Given the description of an element on the screen output the (x, y) to click on. 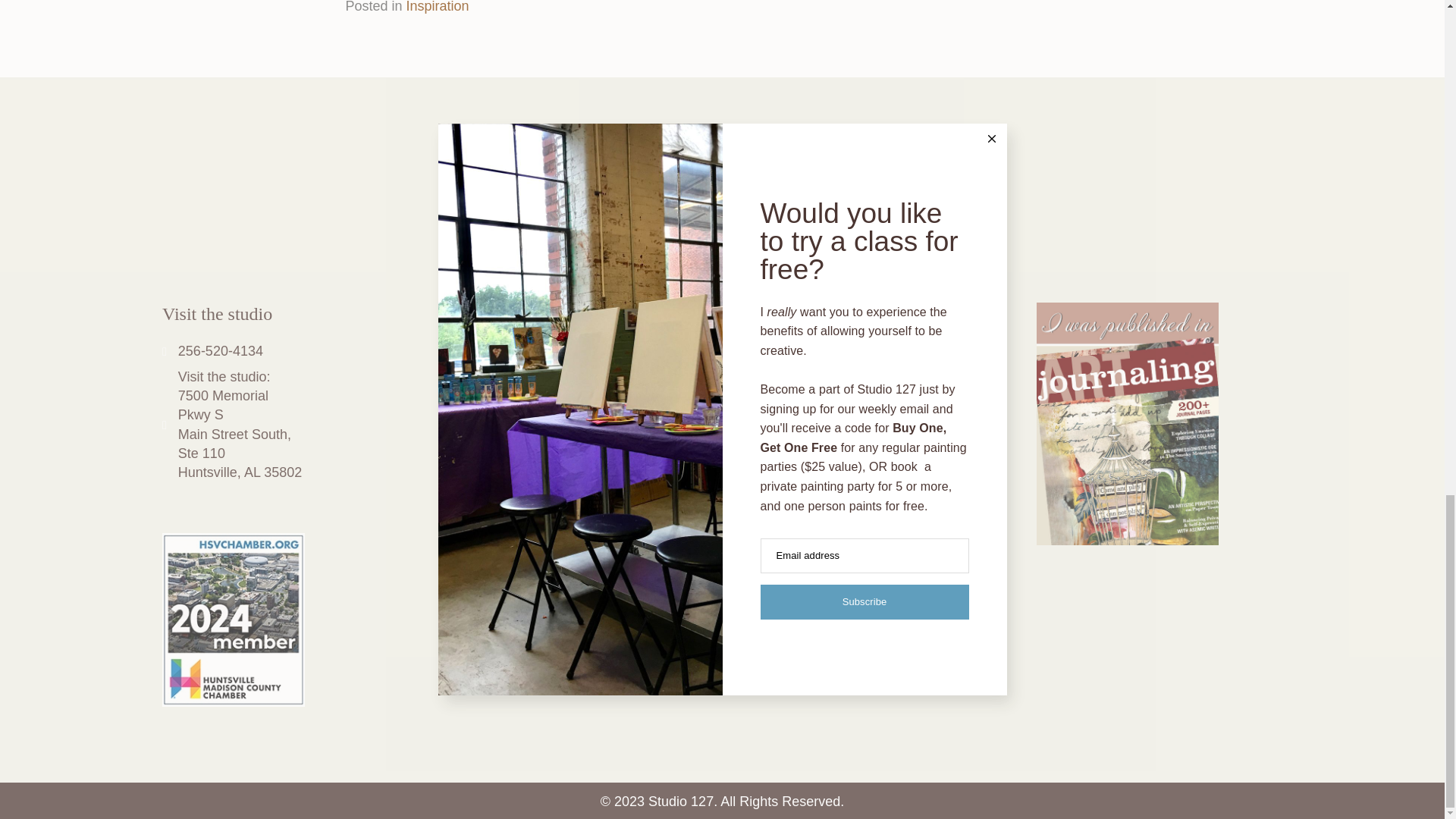
Facebook (644, 251)
Twitter (764, 251)
